Given the description of an element on the screen output the (x, y) to click on. 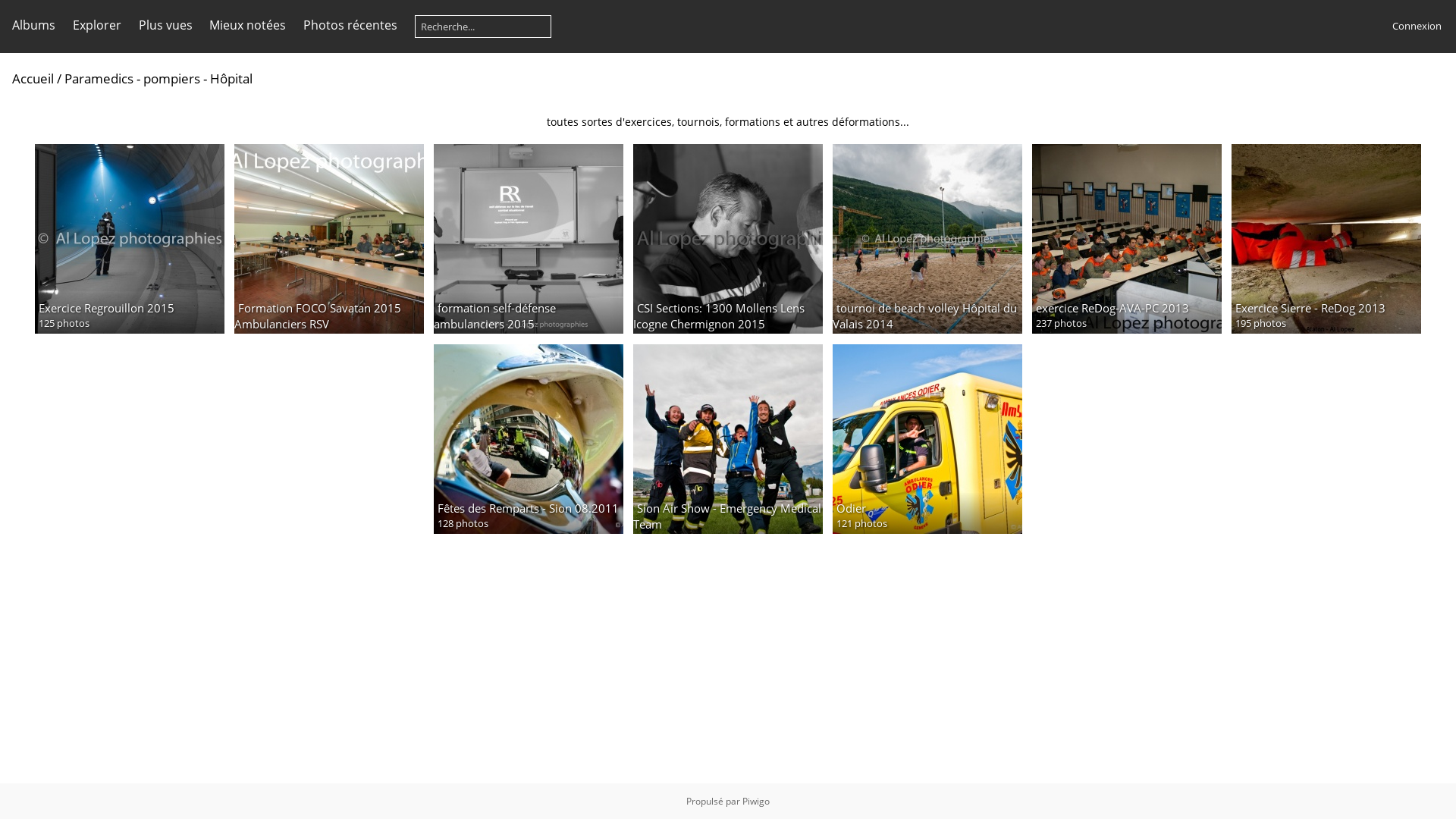
Odier
121 photos Element type: text (927, 438)
Explorer Element type: text (96, 24)
Albums Element type: text (33, 24)
Exercice Regrouillon 2015
125 photos Element type: text (129, 238)
Accueil Element type: text (32, 78)
Connexion Element type: text (1416, 25)
exercice ReDog-AVA-PC 2013
237 photos Element type: text (1126, 238)
Plus vues Element type: text (164, 24)
Sion Air Show - Emergency Medical Team
228 photos Element type: text (727, 438)
Piwigo Element type: text (755, 800)
Formation FOCO Savatan 2015 Ambulanciers RSV
201 photos Element type: text (328, 238)
Exercice Sierre - ReDog 2013
195 photos Element type: text (1326, 238)
